Given the description of an element on the screen output the (x, y) to click on. 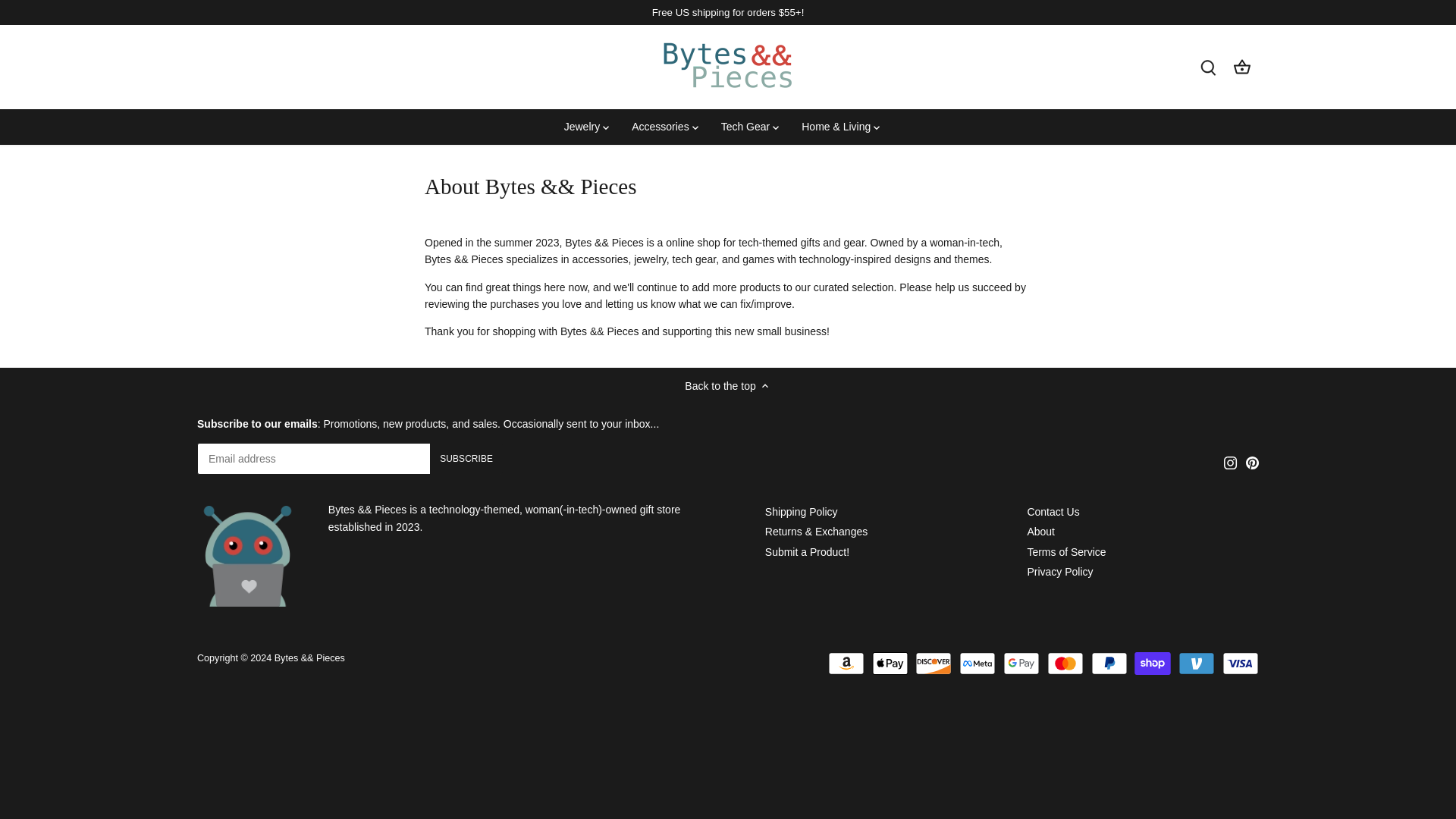
Instagram (1230, 462)
Mastercard (1064, 662)
Subscribe (465, 459)
Meta Pay (977, 662)
Subscribe (465, 459)
Pinterest (1252, 462)
Shop Pay (1152, 662)
Jewelry (587, 126)
Discover (933, 662)
Back to the top (727, 385)
